Given the description of an element on the screen output the (x, y) to click on. 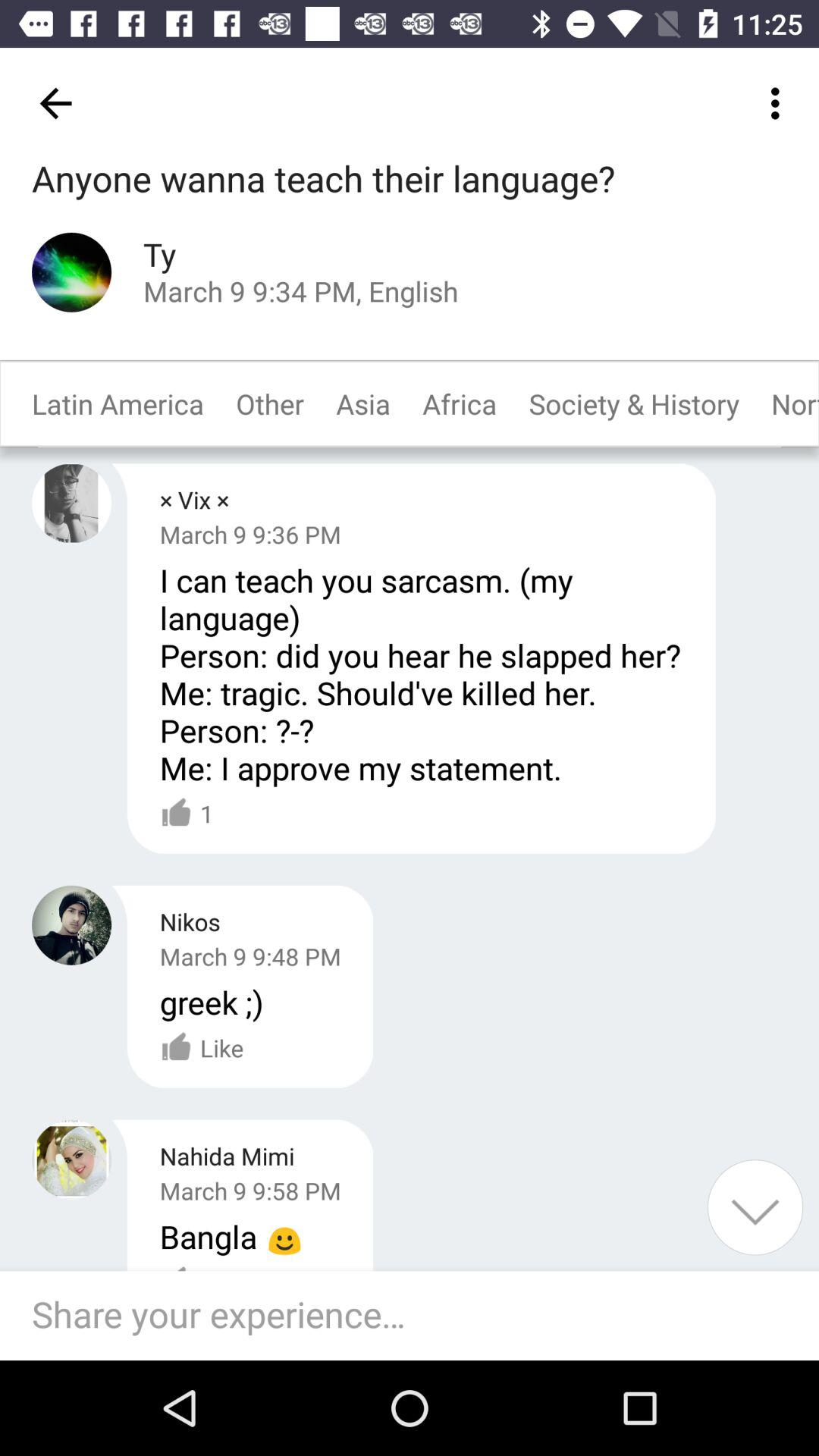
click icon below the march 9 9 icon (186, 813)
